Given the description of an element on the screen output the (x, y) to click on. 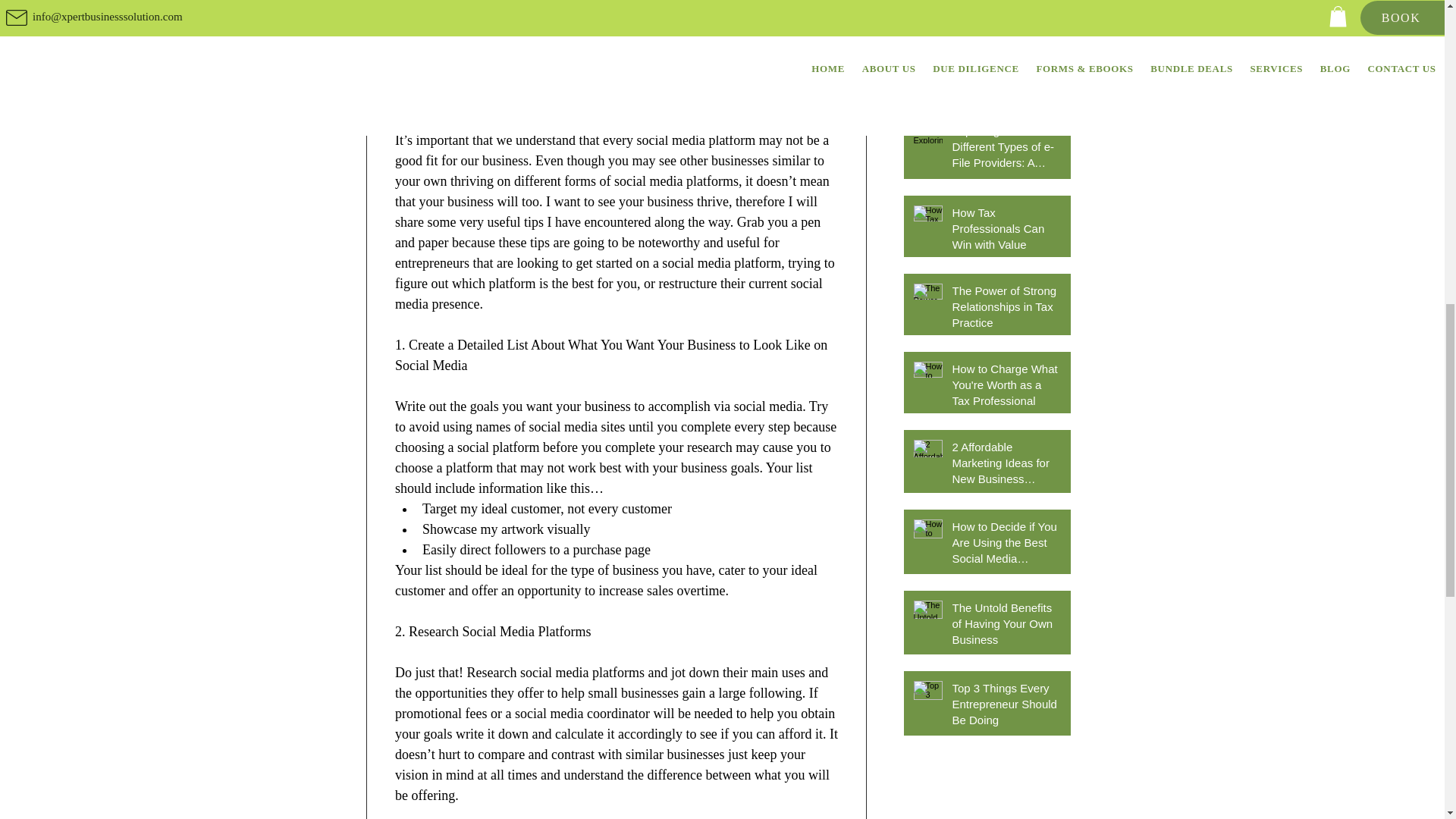
Top 3 Things Every Entrepreneur Should Be Doing (1006, 706)
The Power of Strong Relationships in Tax Practice (1006, 309)
How to Charge What You're Worth as a Tax Professional (1006, 387)
Leveraging Media Exposure to Amplify Your Tax Practice (1006, 68)
How Tax Professionals Can Win with Value (1006, 231)
2 Affordable Marketing Ideas for New Business Owners (1006, 465)
The Untold Benefits of Having Your Own Business (1006, 626)
